Given the description of an element on the screen output the (x, y) to click on. 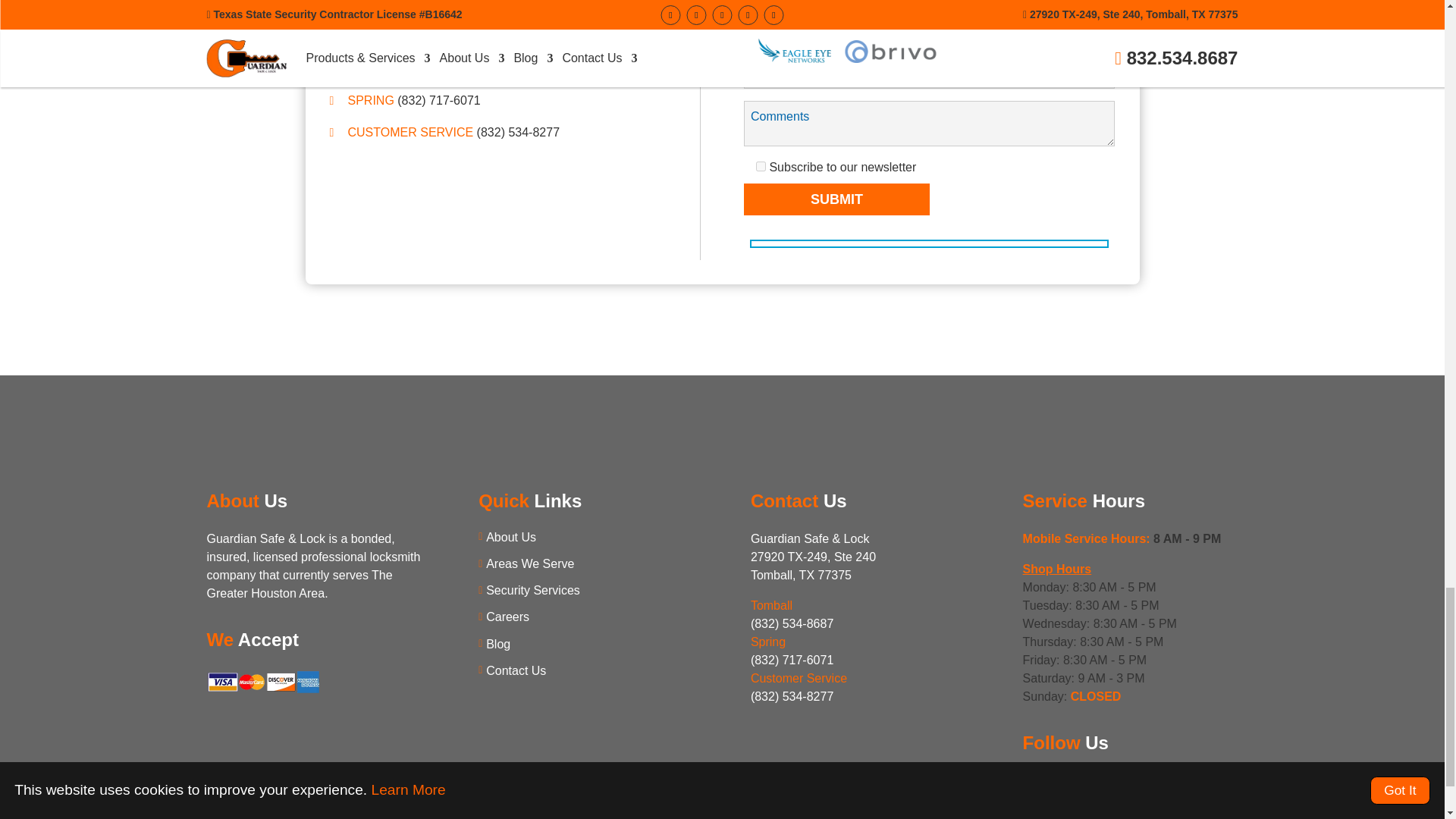
Subscribe to our newsletter (760, 166)
Submit (837, 199)
Follow on LinkedIn (1084, 782)
credit-card-logo (263, 690)
Follow on X (1058, 782)
Follow on Facebook (1032, 782)
